Given the description of an element on the screen output the (x, y) to click on. 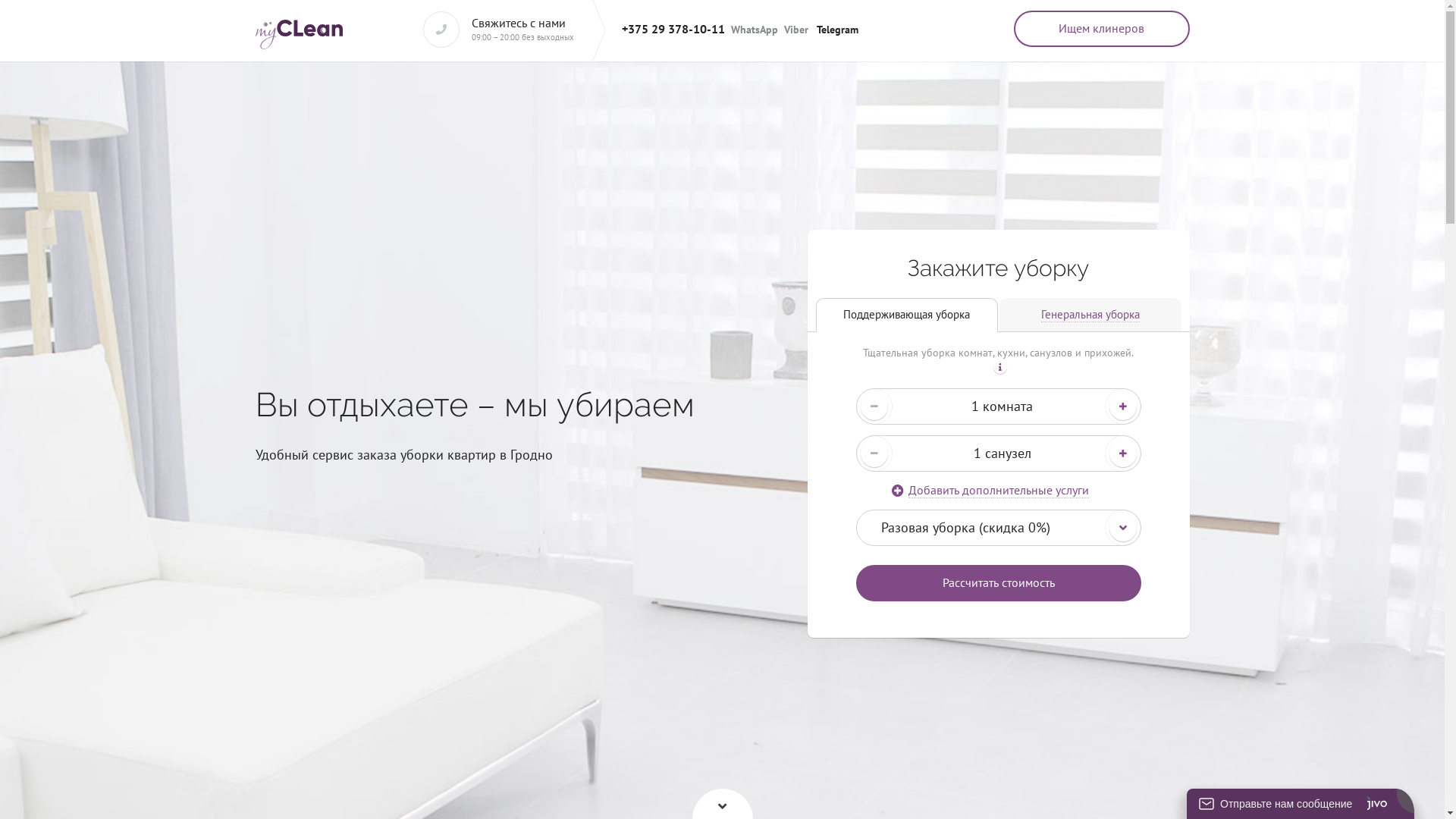
+375 29 378-10-11 Element type: text (672, 28)
WhatsApp Element type: text (754, 29)
Viber Element type: text (796, 29)
